Given the description of an element on the screen output the (x, y) to click on. 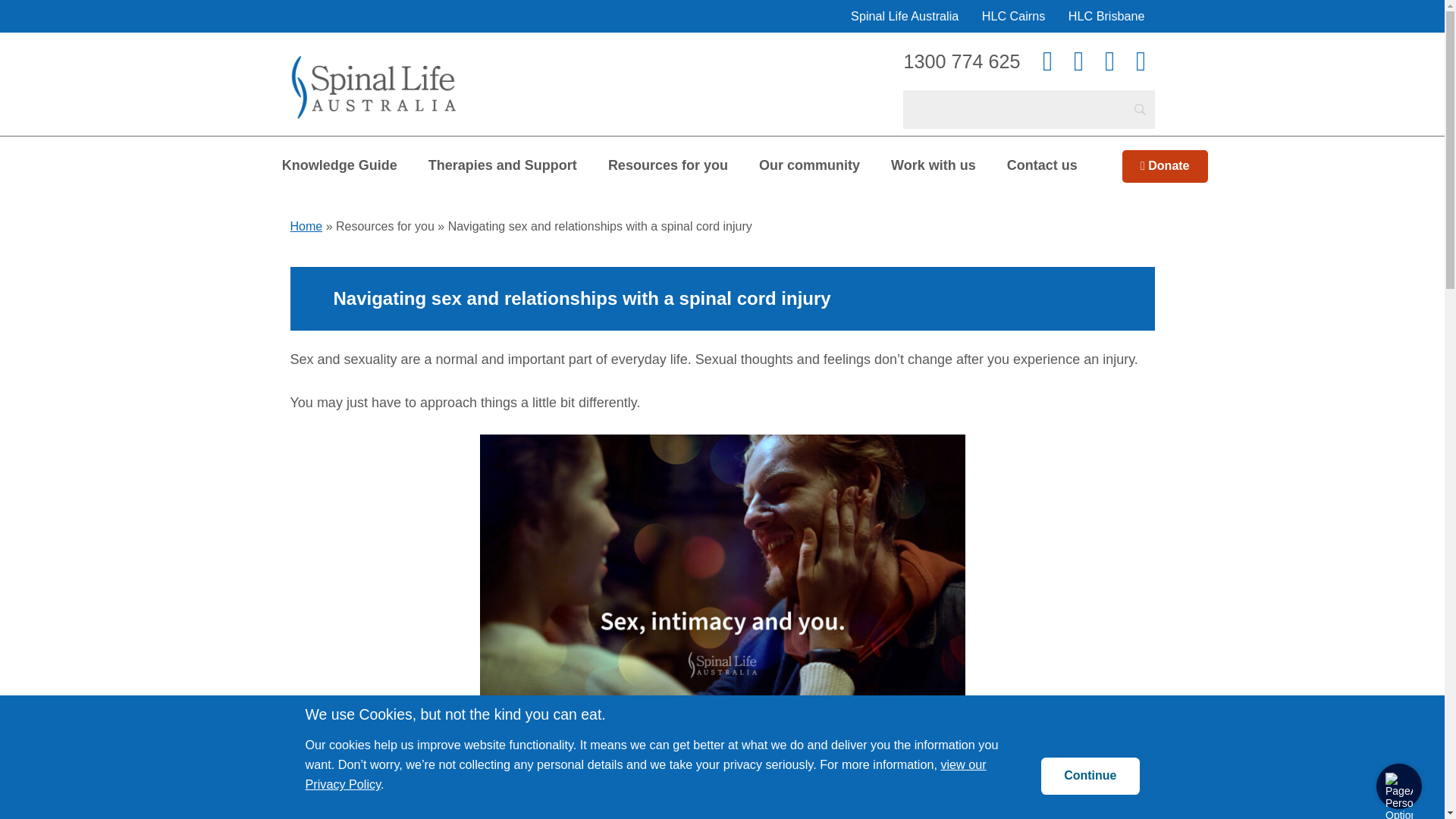
Spinal Life Australia (904, 16)
Go to Home. (305, 226)
1300 774 625 (961, 60)
Knowledge Guide (338, 164)
Spinal Life Australia (373, 64)
HLC Brisbane (1106, 16)
Resources for you (667, 164)
Therapies and Support (502, 164)
HLC Cairns (1013, 16)
